Given the description of an element on the screen output the (x, y) to click on. 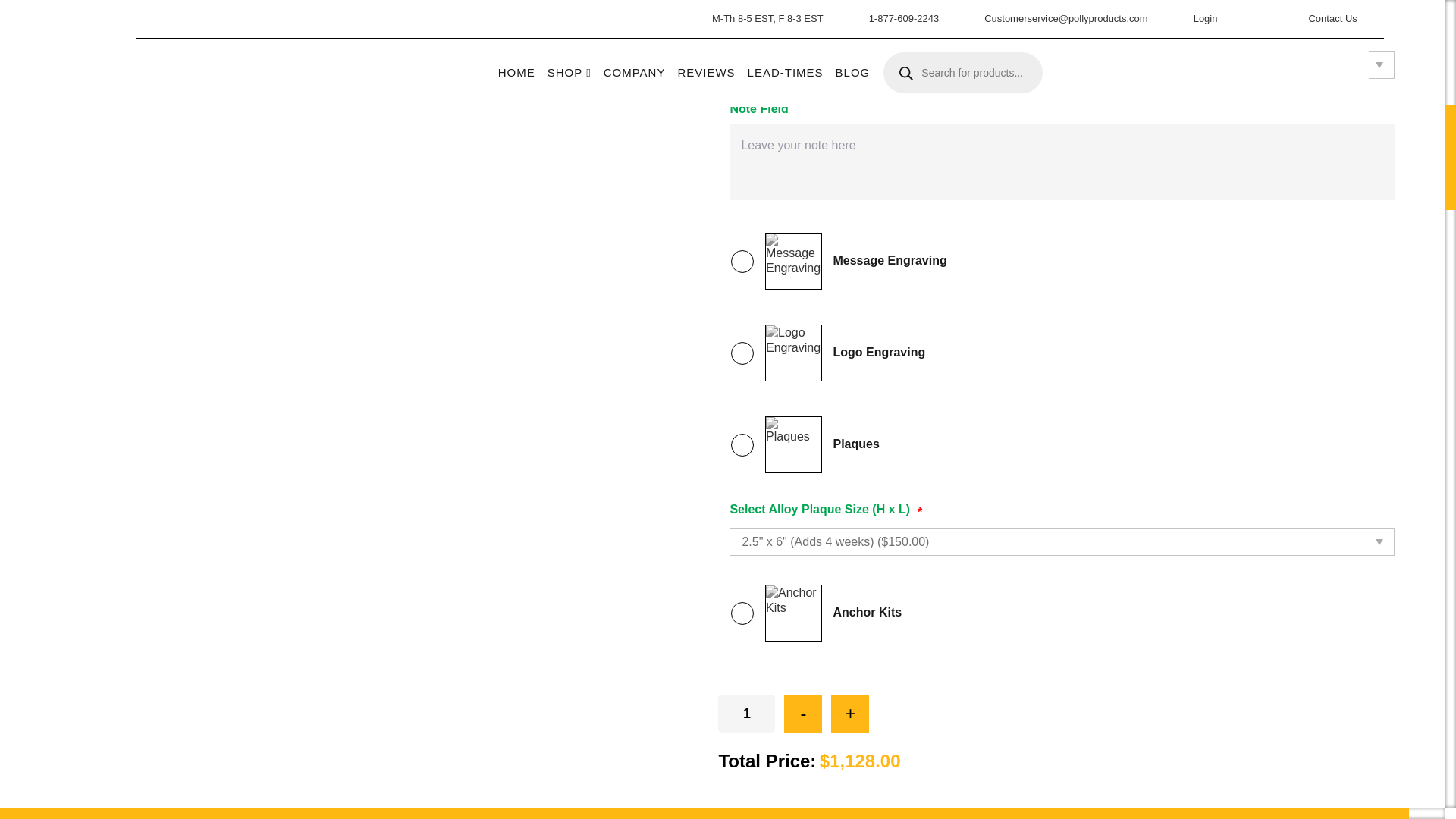
0 (742, 352)
0 (742, 445)
0 (742, 612)
0 (742, 261)
